Given the description of an element on the screen output the (x, y) to click on. 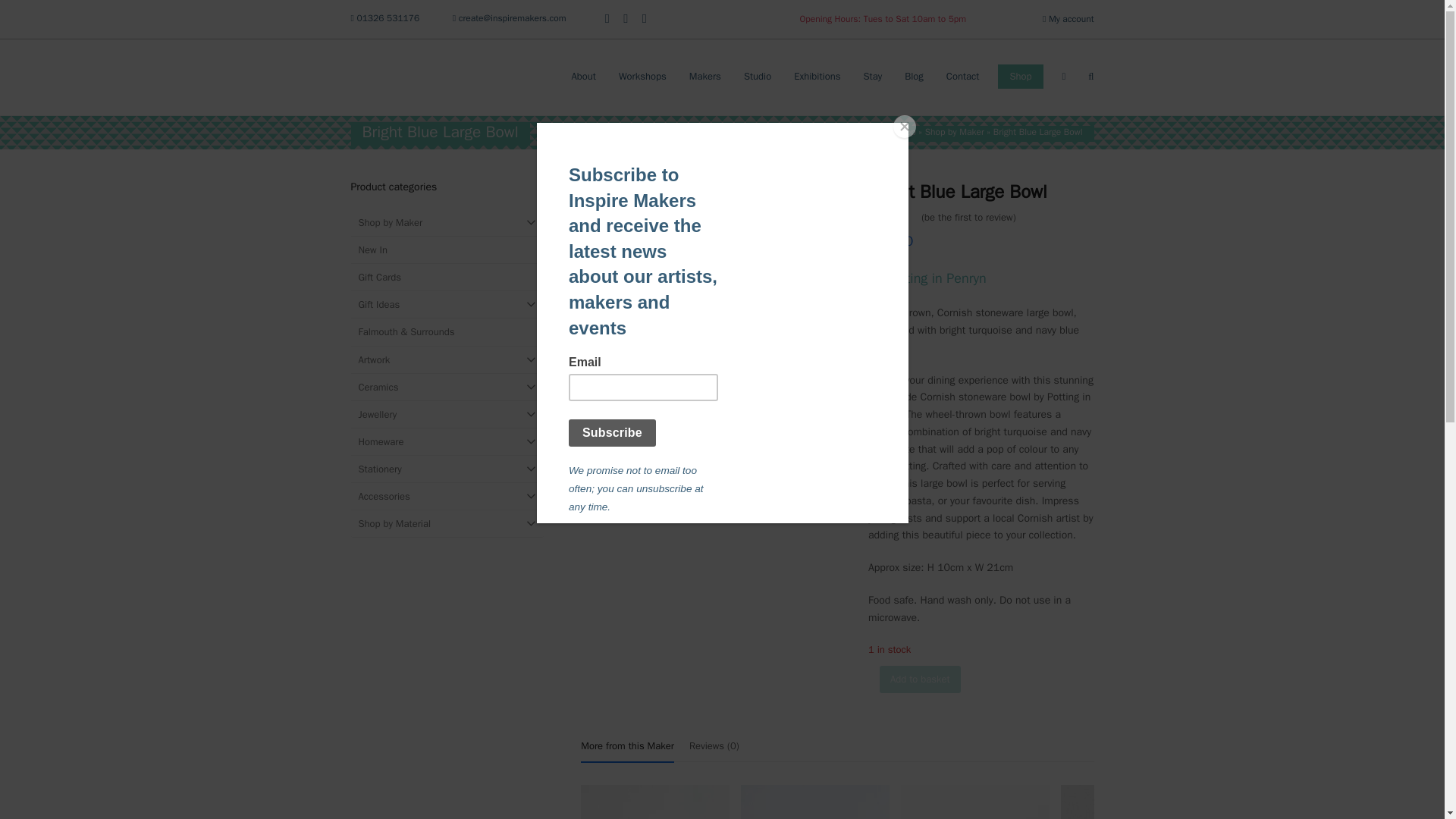
Contact (962, 76)
instagram (606, 19)
Shop by Maker (954, 132)
Shop (1019, 76)
Home (874, 132)
Workshops (642, 76)
Studio (757, 76)
be the first to review (968, 216)
My account (1071, 19)
Potting in Penryn BB Large Bowl (713, 312)
Stay (872, 76)
About (583, 76)
facebook (625, 19)
Shop (905, 132)
Exhibitions (817, 76)
